Given the description of an element on the screen output the (x, y) to click on. 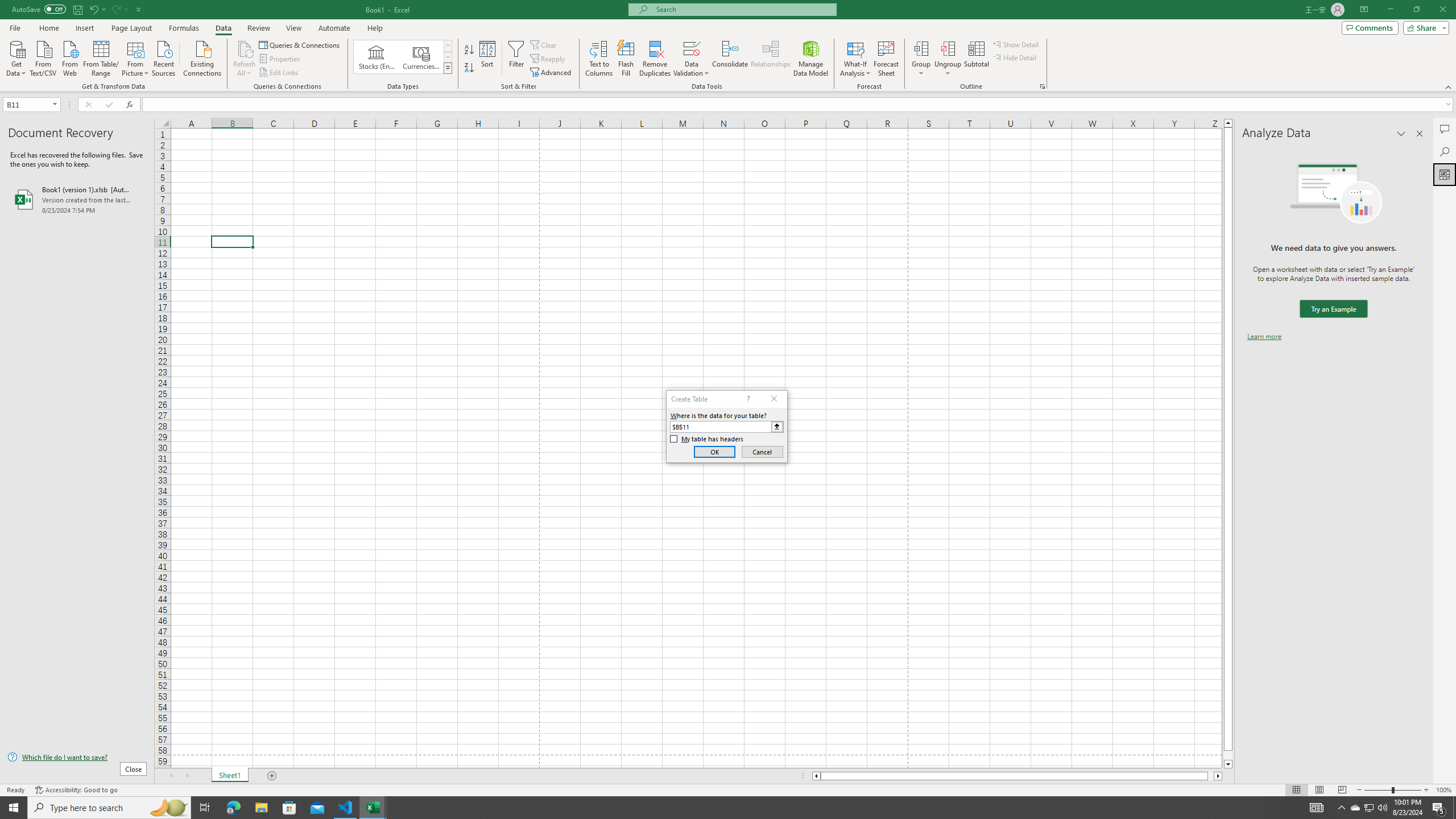
From Picture (135, 57)
Sort... (487, 58)
Row up (448, 45)
From Text/CSV (43, 57)
File Tab (15, 27)
Class: MsoCommandBar (728, 45)
Line up (1228, 122)
From Table/Range (100, 57)
Page down (1228, 755)
Scroll Left (171, 775)
Manage Data Model (810, 58)
Task Pane Options (1400, 133)
Collapse the Ribbon (1448, 86)
